Given the description of an element on the screen output the (x, y) to click on. 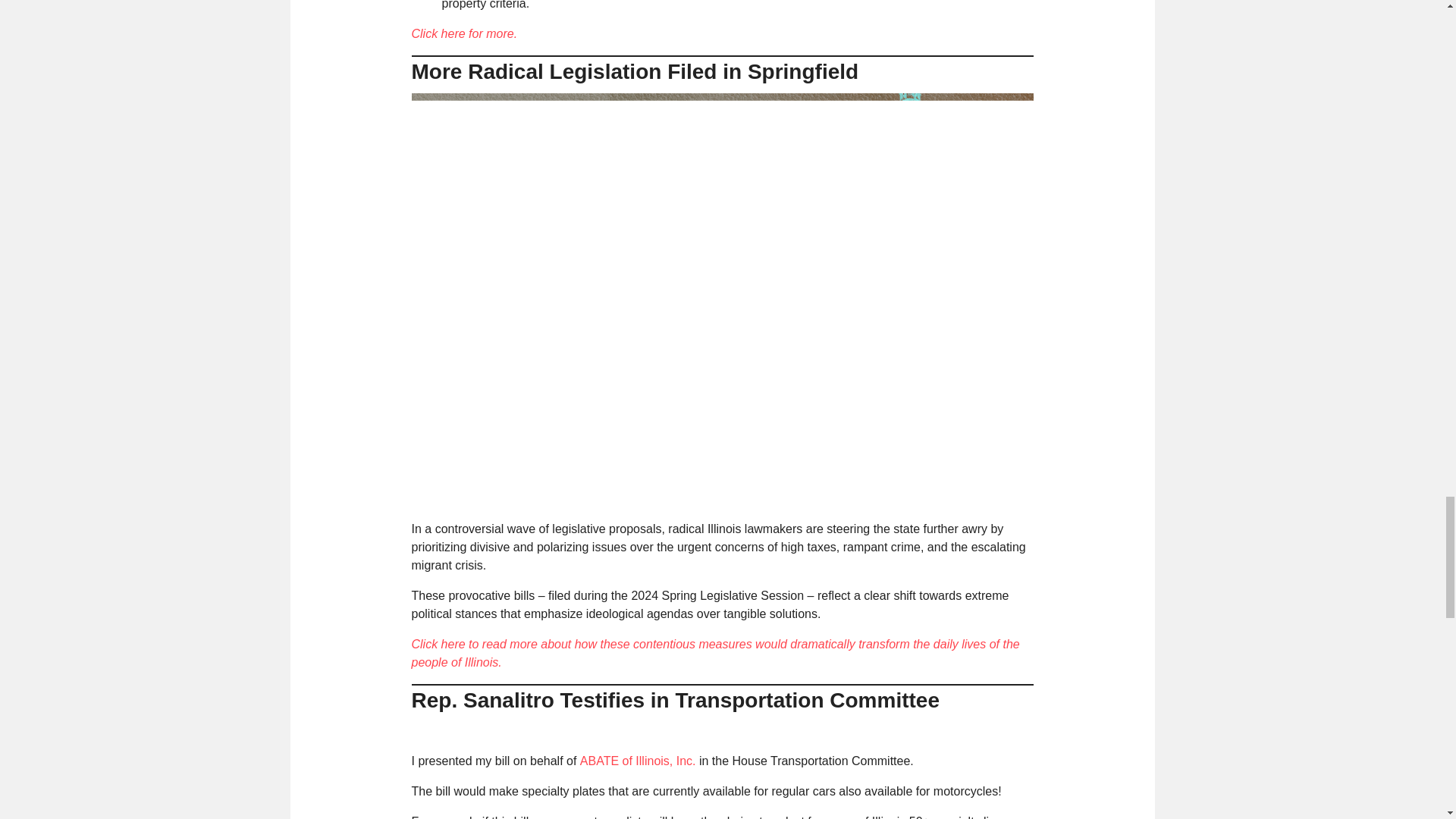
ABATE of Illinois, Inc. (637, 760)
Click here for more. (463, 33)
